Given the description of an element on the screen output the (x, y) to click on. 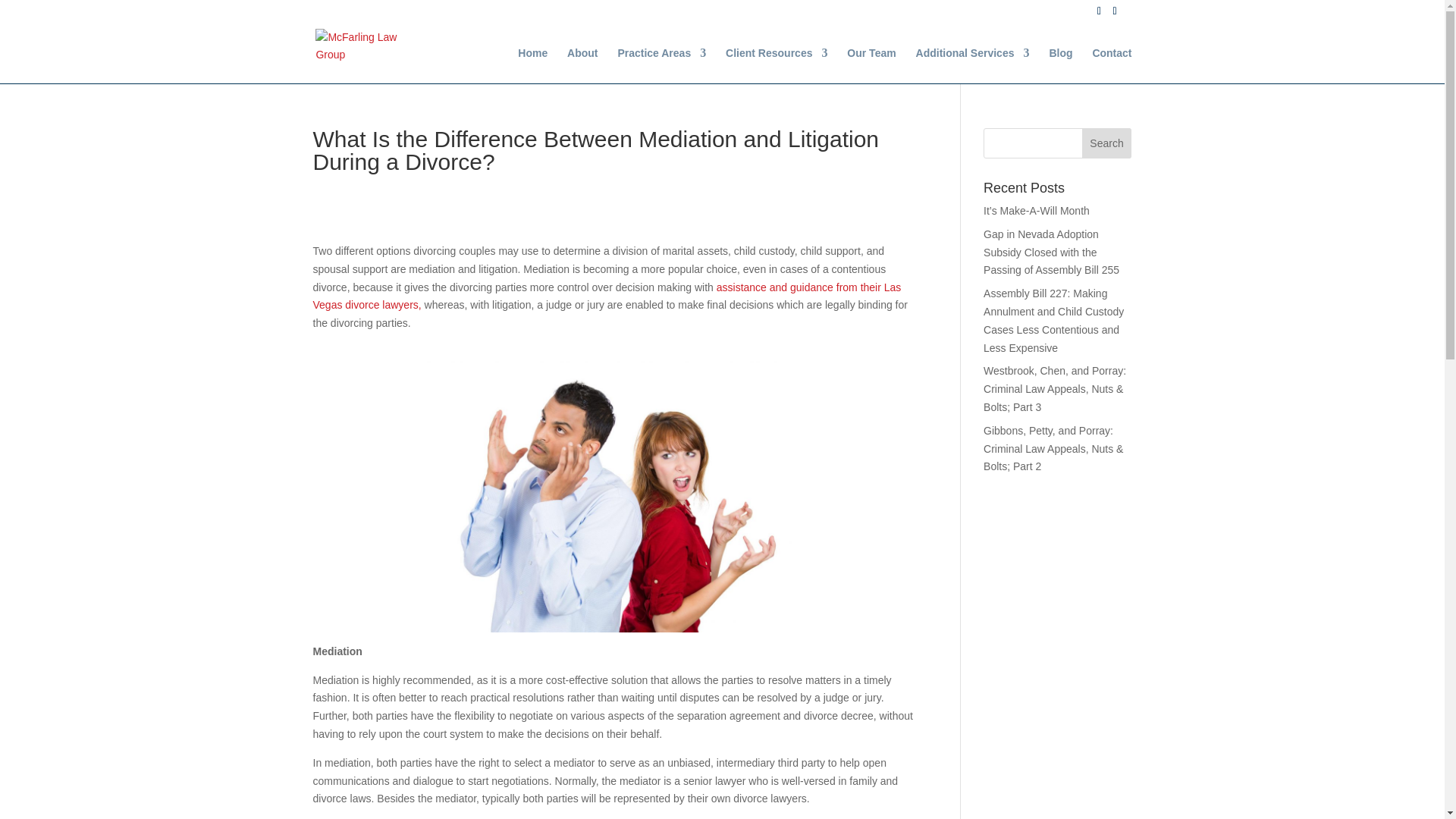
Our Team (871, 65)
Client Resources (776, 65)
Practice Areas (661, 65)
Search (1106, 142)
